Given the description of an element on the screen output the (x, y) to click on. 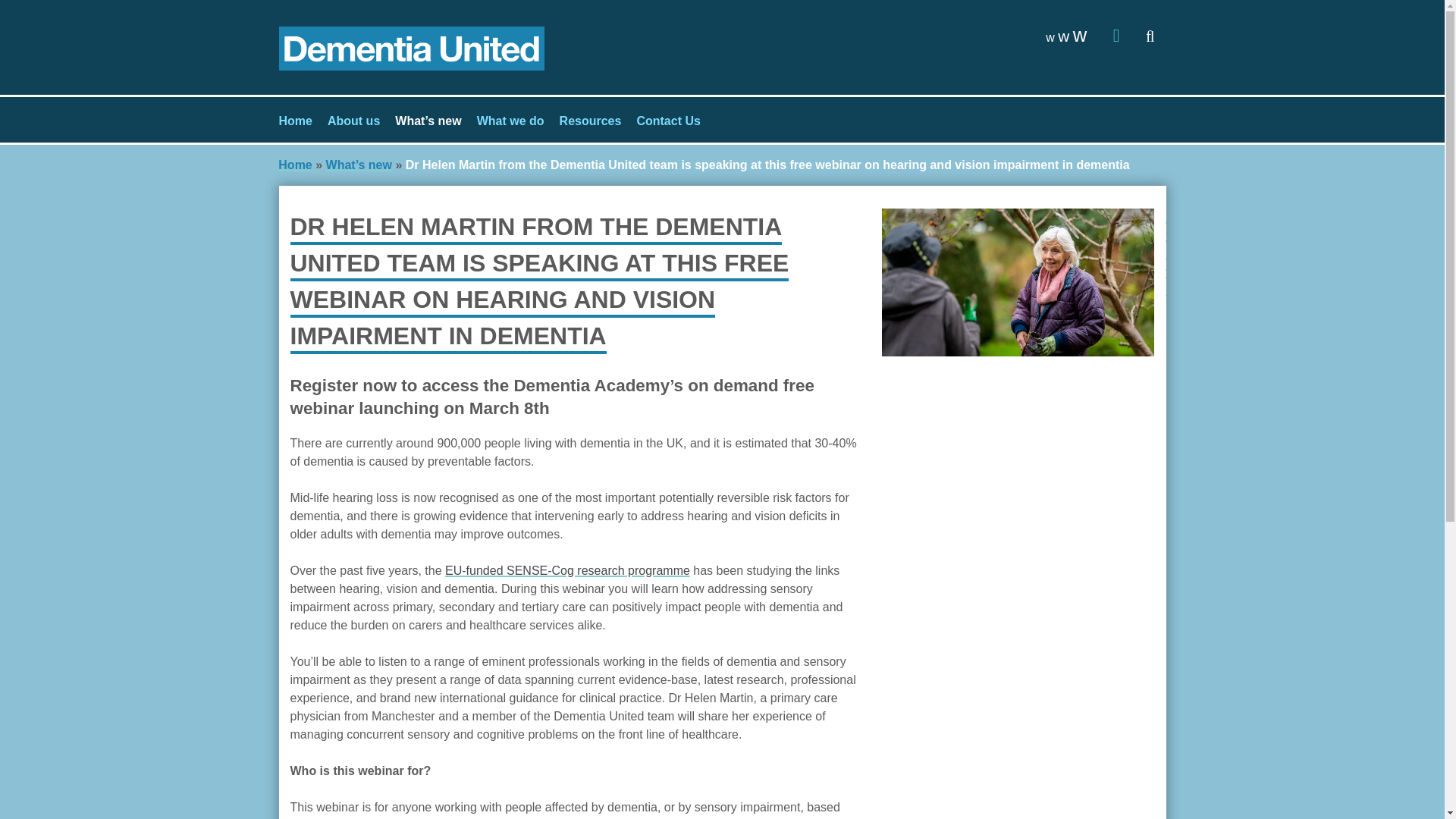
About us (353, 121)
Home (296, 121)
Resources (590, 121)
Contact Us (668, 121)
EU-funded SENSE-Cog research programme (567, 570)
Home (294, 164)
What we do (510, 121)
